Given the description of an element on the screen output the (x, y) to click on. 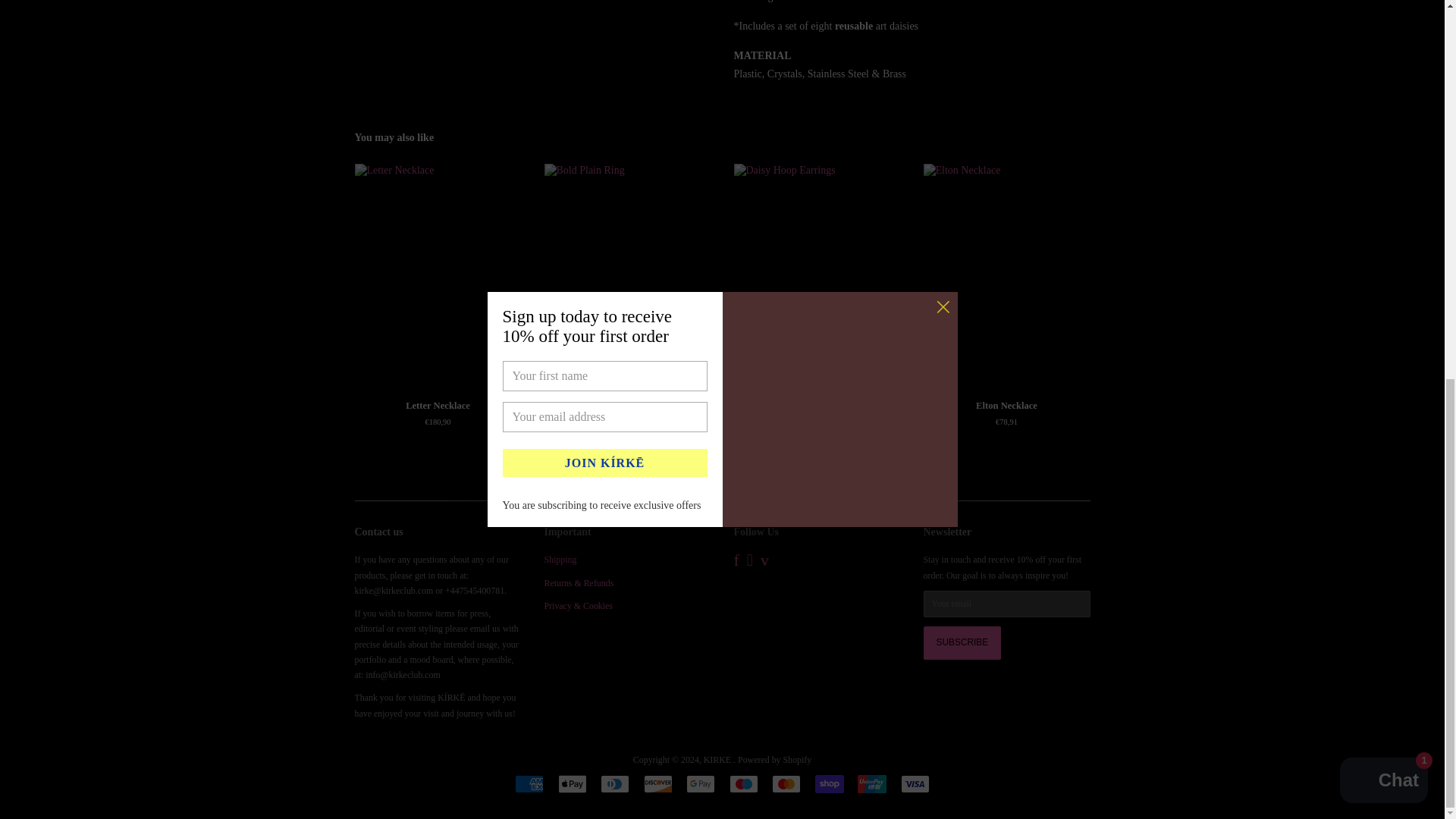
KIRKE  on Instagram (749, 562)
Discover (657, 783)
Shopify online store chat (1383, 79)
Visa (915, 783)
American Express (529, 783)
Privacy Policy (578, 605)
Maestro (743, 783)
Shop Pay (829, 783)
Refund Policy (579, 583)
Shipping Policy (560, 559)
Apple Pay (571, 783)
Mastercard (785, 783)
Union Pay (871, 783)
Diners Club (613, 783)
Google Pay (699, 783)
